Given the description of an element on the screen output the (x, y) to click on. 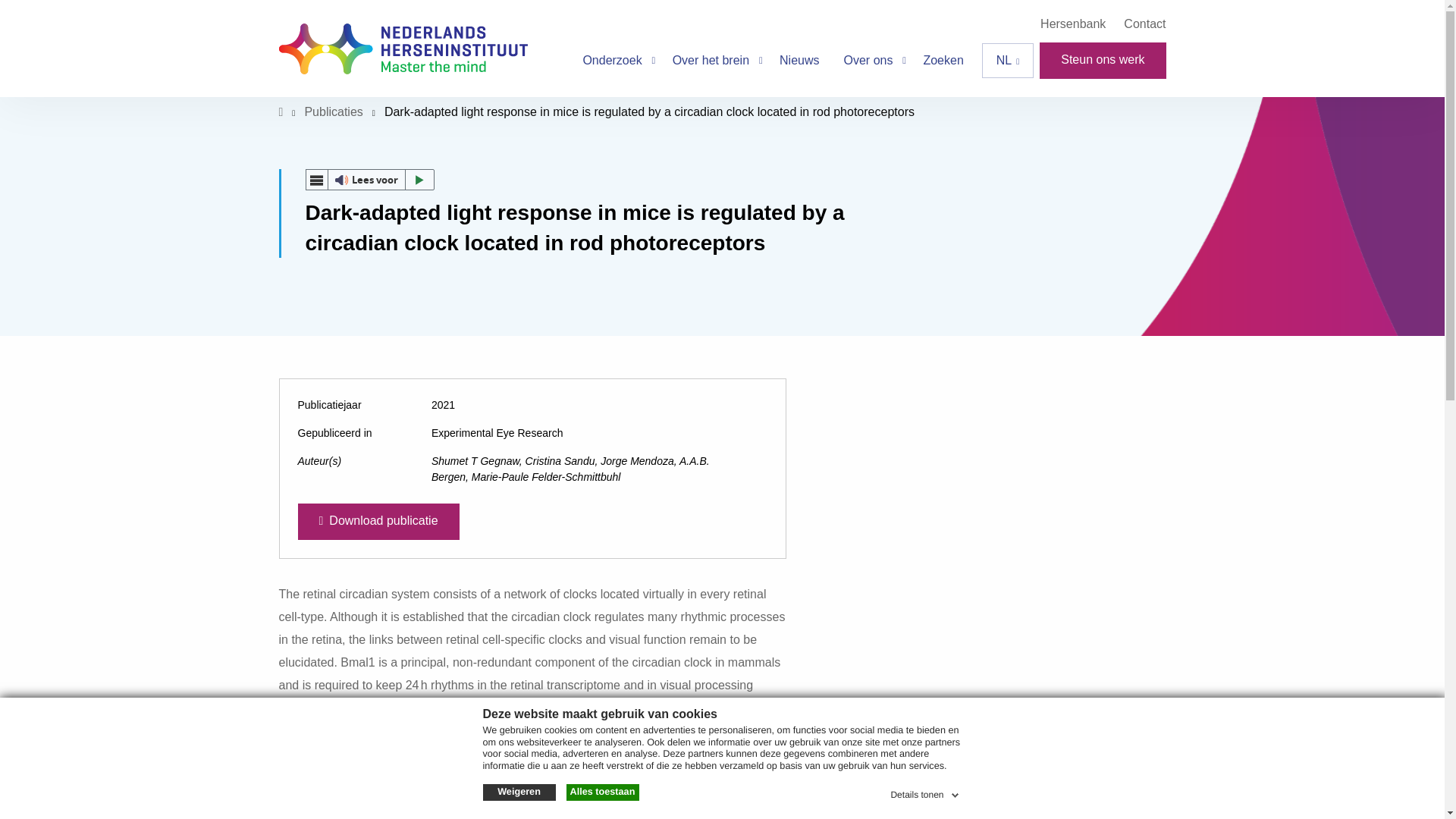
Weigeren (517, 791)
Alles toestaan (602, 791)
Details tonen (924, 791)
